Given the description of an element on the screen output the (x, y) to click on. 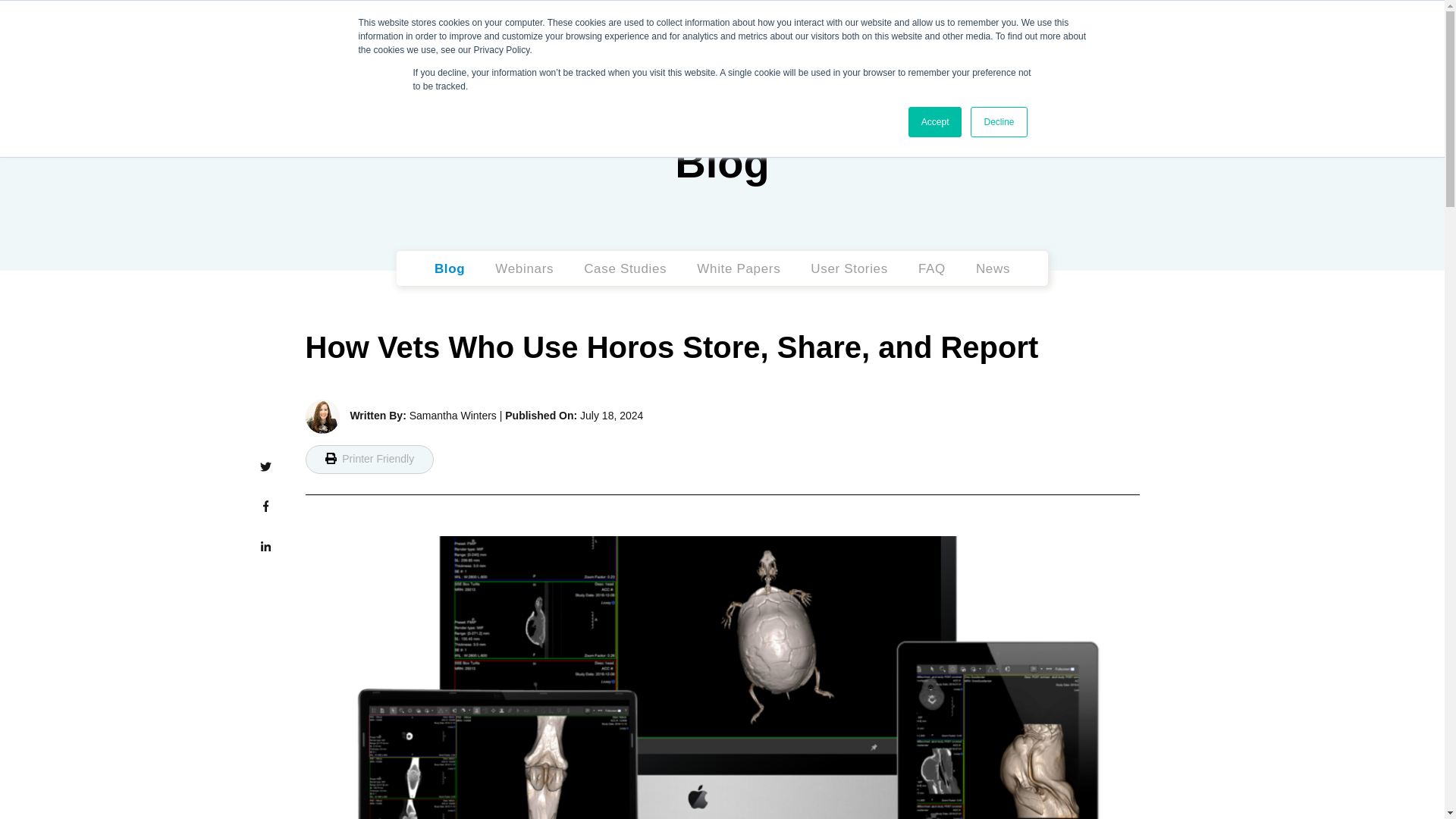
Share this blog post on Twitter (265, 466)
LEARN (991, 70)
White Papers (738, 268)
CLIENTS (895, 70)
Case Studies (624, 268)
Webinars (524, 268)
Blog (721, 162)
Talk to Us (1204, 71)
SOLUTIONS (783, 70)
Blog (448, 268)
